Given the description of an element on the screen output the (x, y) to click on. 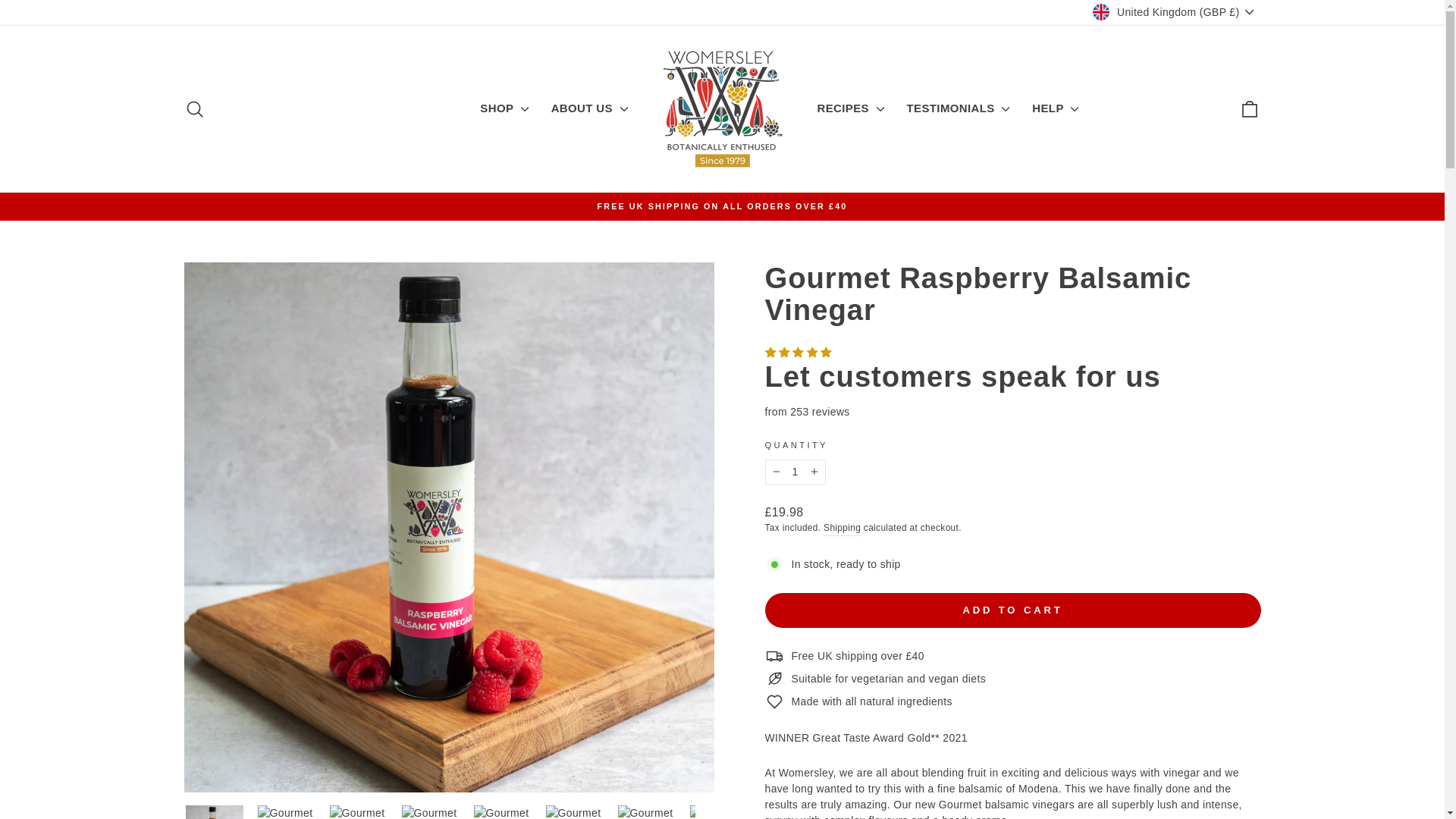
ICON-BAG-MINIMAL (1249, 108)
1 (794, 471)
ICON-SEARCH (194, 108)
